Given the description of an element on the screen output the (x, y) to click on. 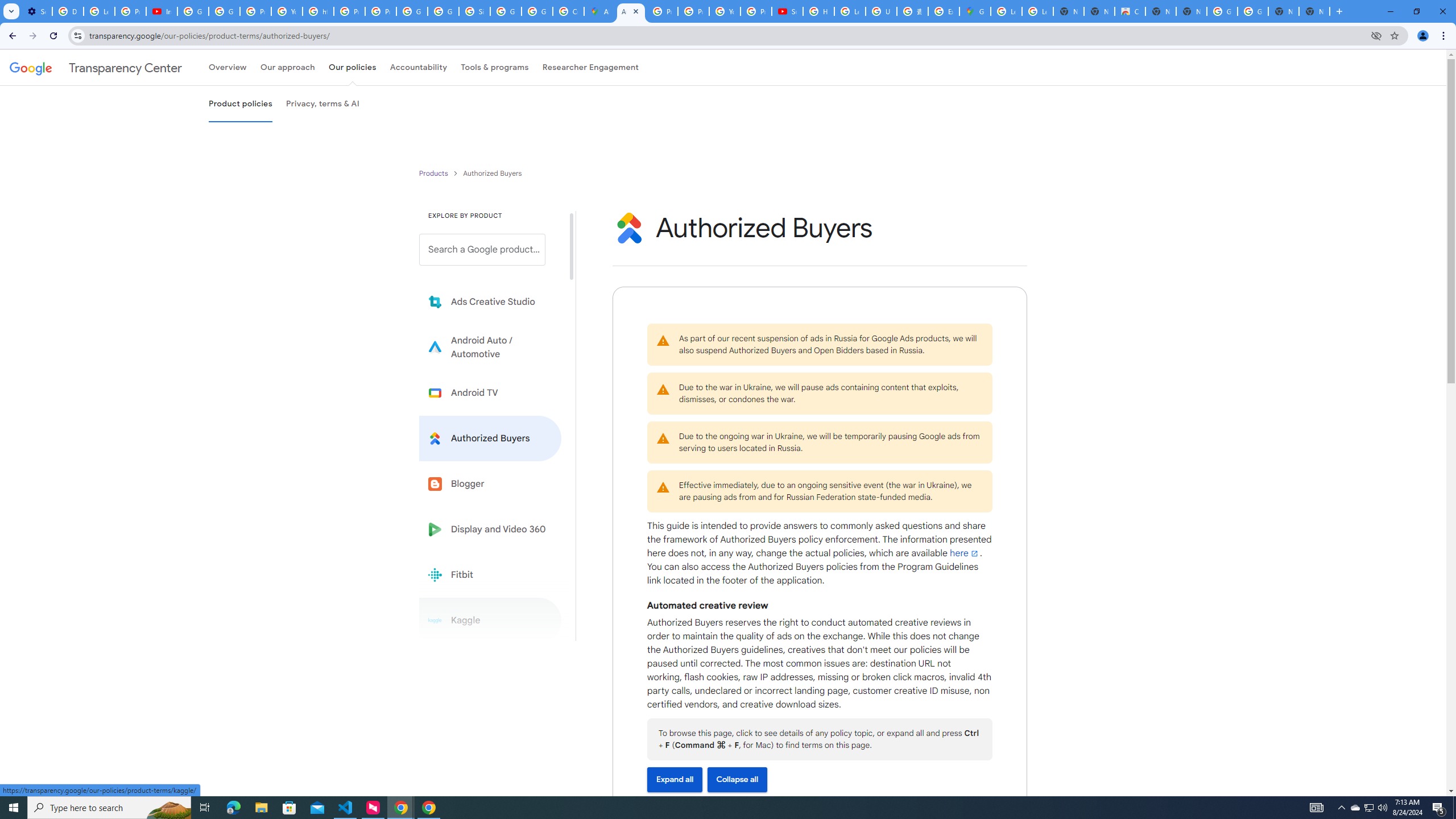
Our approach (287, 67)
Privacy Help Center - Policies Help (662, 11)
Create your Google Account (568, 11)
Google Account Help (192, 11)
Product policies (434, 173)
Learn more about Android TV (490, 393)
Learn more about Authorized Buyers (490, 438)
Google Images (1252, 11)
Delete photos & videos - Computer - Google Photos Help (67, 11)
How Chrome protects your passwords - Google Chrome Help (818, 11)
